Given the description of an element on the screen output the (x, y) to click on. 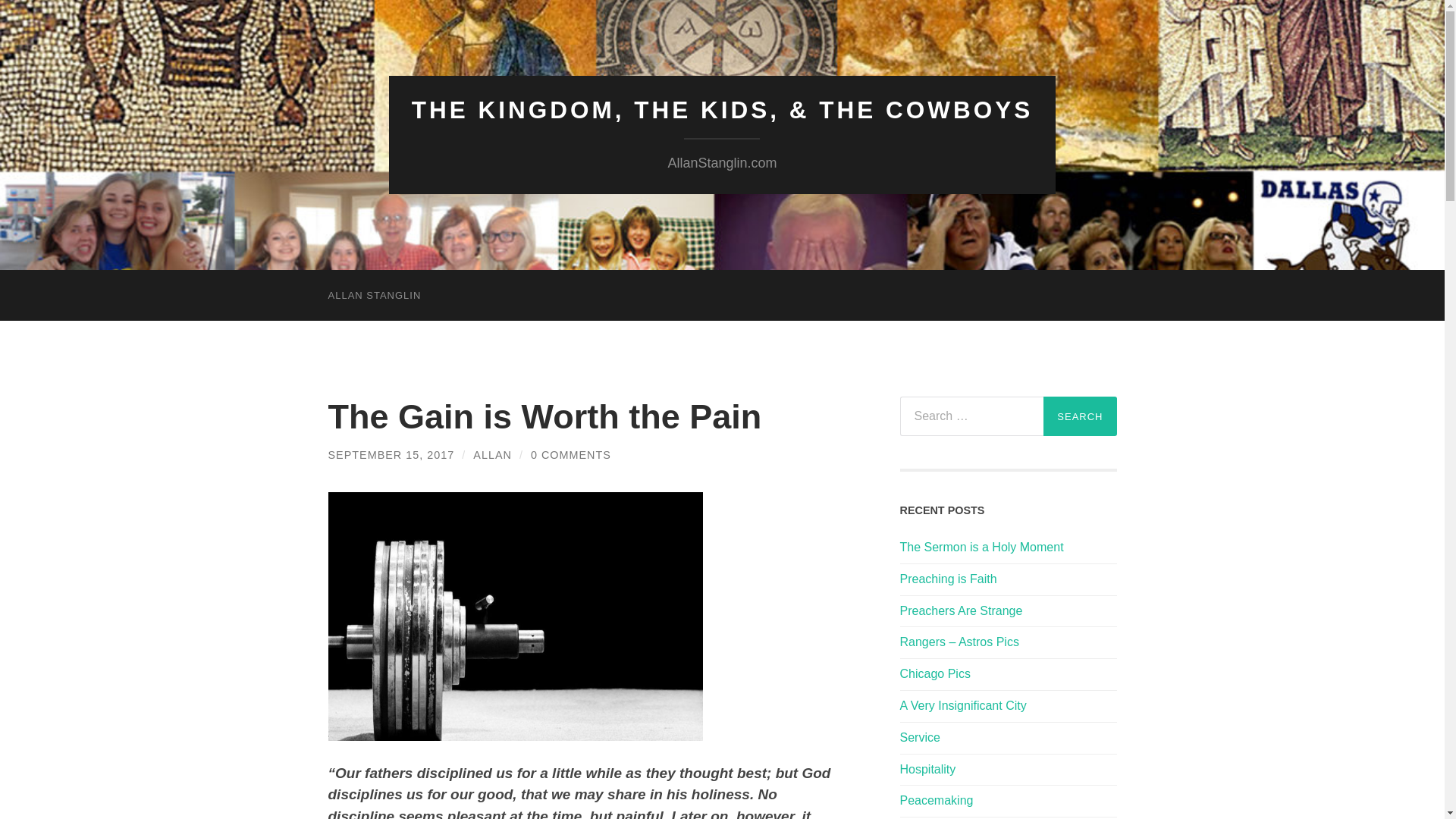
Search (1079, 415)
Preachers Are Strange (1007, 611)
Service (1007, 738)
The Sermon is a Holy Moment (1007, 547)
SEPTEMBER 15, 2017 (390, 454)
ALLAN (492, 454)
Posts by Allan (492, 454)
Hospitality (1007, 770)
Search (1079, 415)
0 COMMENTS (571, 454)
Search (1079, 415)
ALLAN STANGLIN (374, 295)
Chicago Pics (1007, 674)
A Very Insignificant City (1007, 706)
Peacemaking (1007, 801)
